Given the description of an element on the screen output the (x, y) to click on. 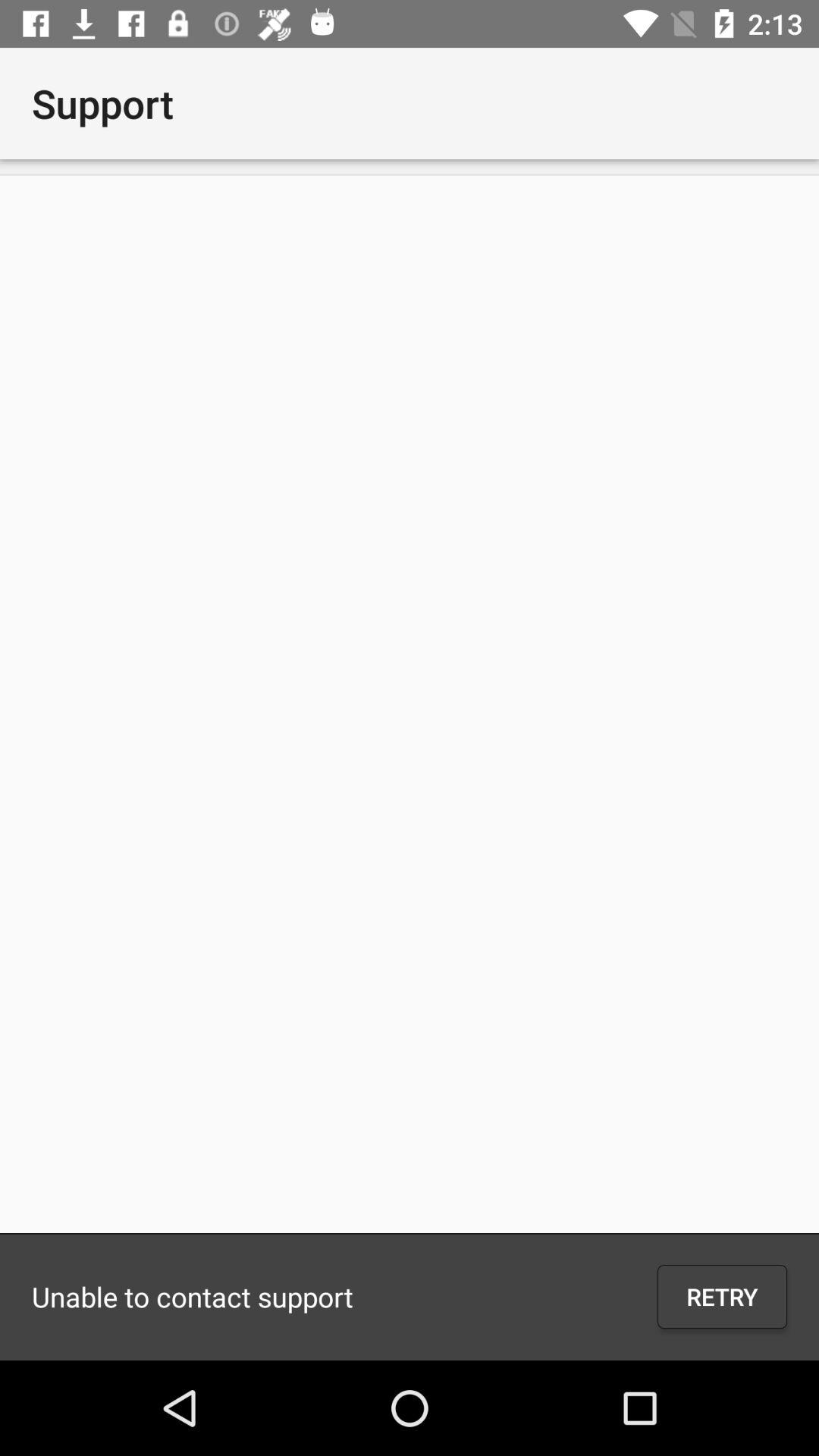
choose icon next to unable to contact item (722, 1296)
